Given the description of an element on the screen output the (x, y) to click on. 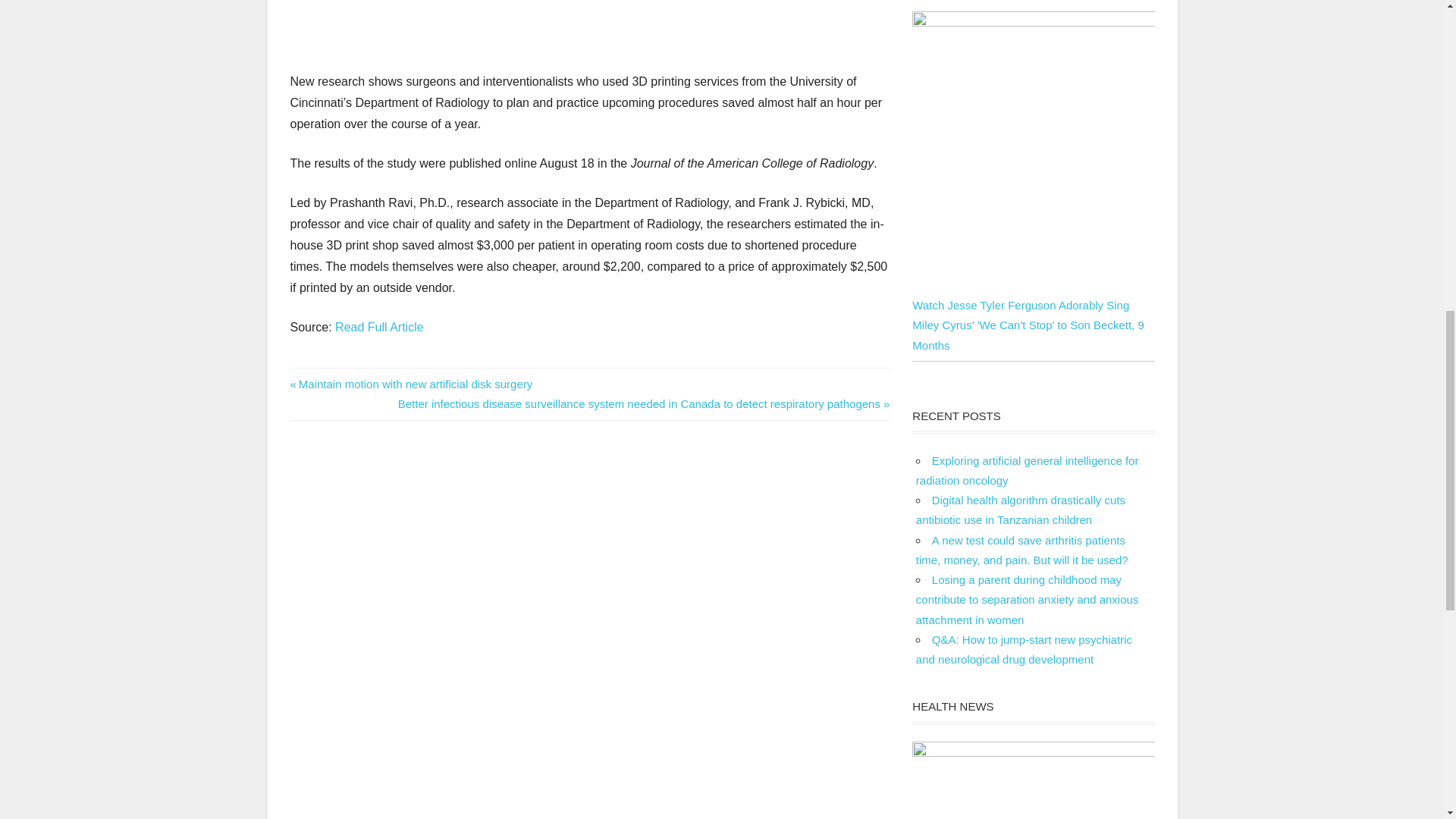
Read Full Article (378, 327)
